Given the description of an element on the screen output the (x, y) to click on. 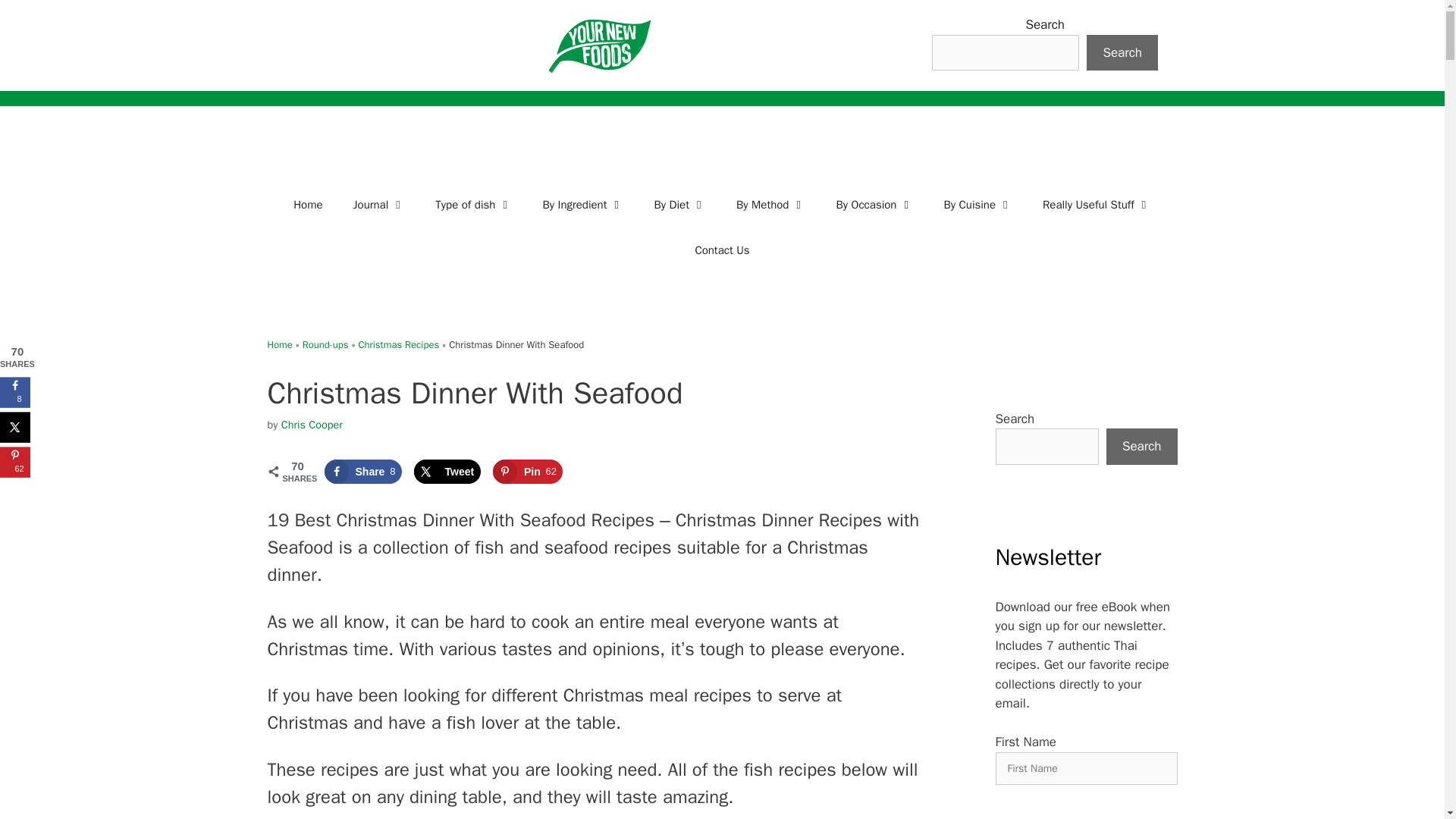
Save to Pinterest (528, 471)
Journal (378, 204)
Share on X (447, 471)
By Method (770, 204)
By Occasion (874, 204)
Search (1121, 53)
By Ingredient (583, 204)
Type of dish (473, 204)
View all posts by Chris Cooper (311, 424)
By Diet (679, 204)
